Given the description of an element on the screen output the (x, y) to click on. 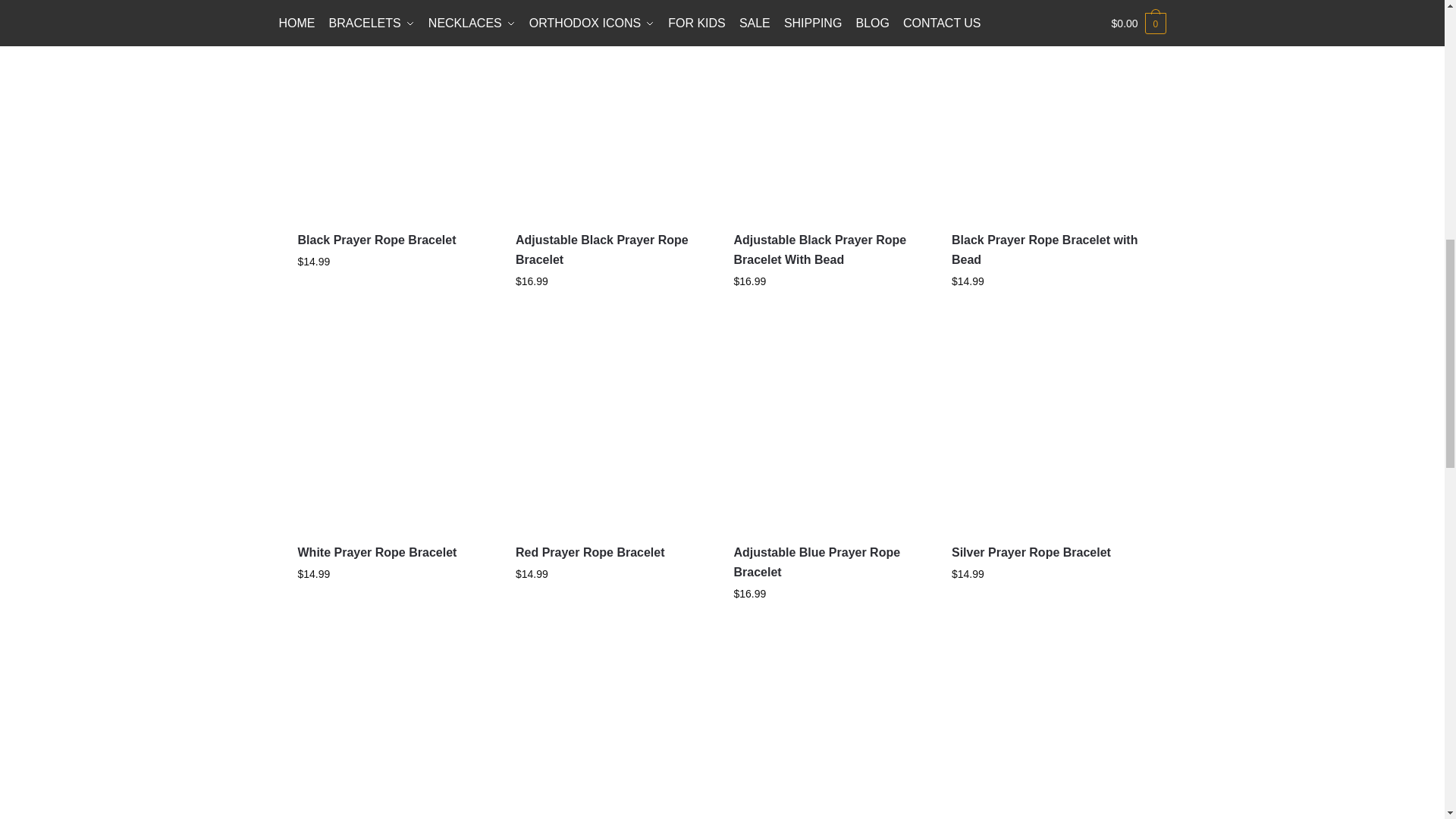
Black Prayer Rope Bracelet with Bead (1049, 122)
Blue Prayer Rope Bracelet (395, 734)
Adjustable Blue Prayer Rope Bracelet (831, 434)
White Prayer Rope Bracelet with Bead (1049, 734)
Adjustable Black Prayer Rope Bracelet With Bead (831, 122)
Dark Purple Prayer Rope Bracelet (831, 734)
White Prayer Rope Bracelet (395, 434)
Gold Prayer Rope Bracelet (613, 734)
Silver Prayer Rope Bracelet (1049, 434)
Red Prayer Rope Bracelet (613, 434)
Black Prayer Rope Bracelet (395, 122)
Adjustable Black Prayer Rope Bracelet (613, 122)
